Given the description of an element on the screen output the (x, y) to click on. 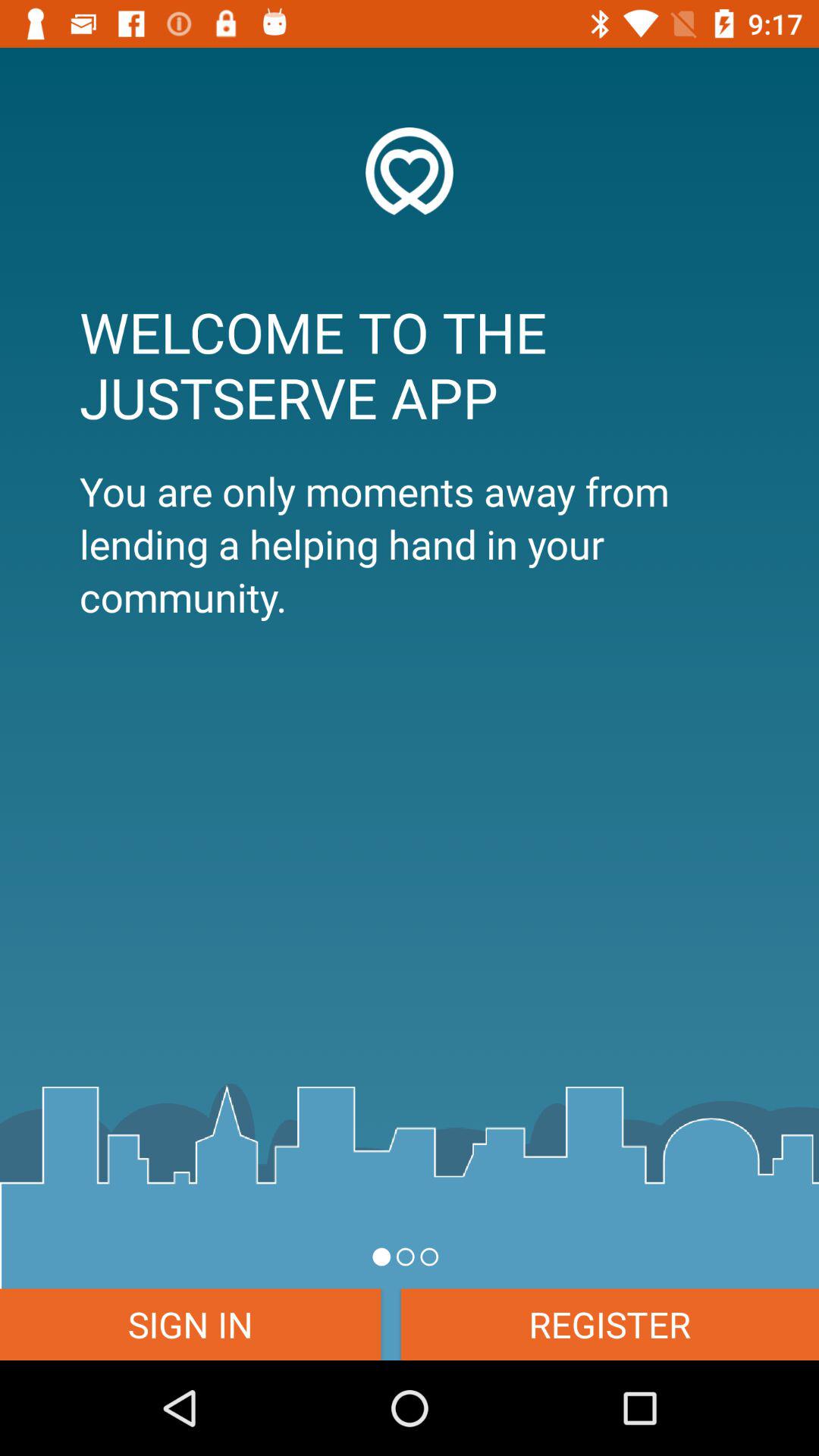
select the item to the right of the sign in item (609, 1324)
